Given the description of an element on the screen output the (x, y) to click on. 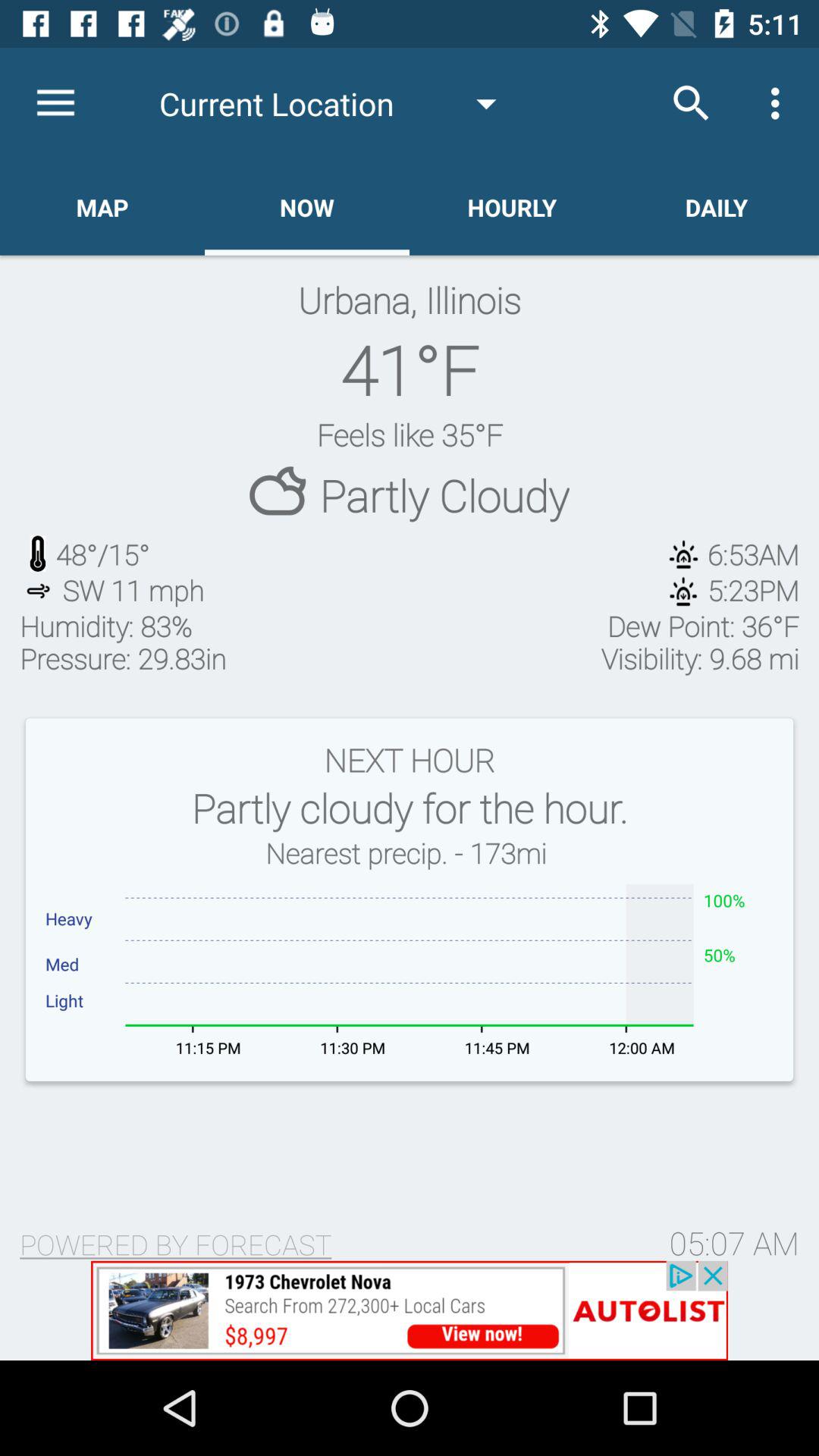
opens up advertisement (409, 1310)
